Given the description of an element on the screen output the (x, y) to click on. 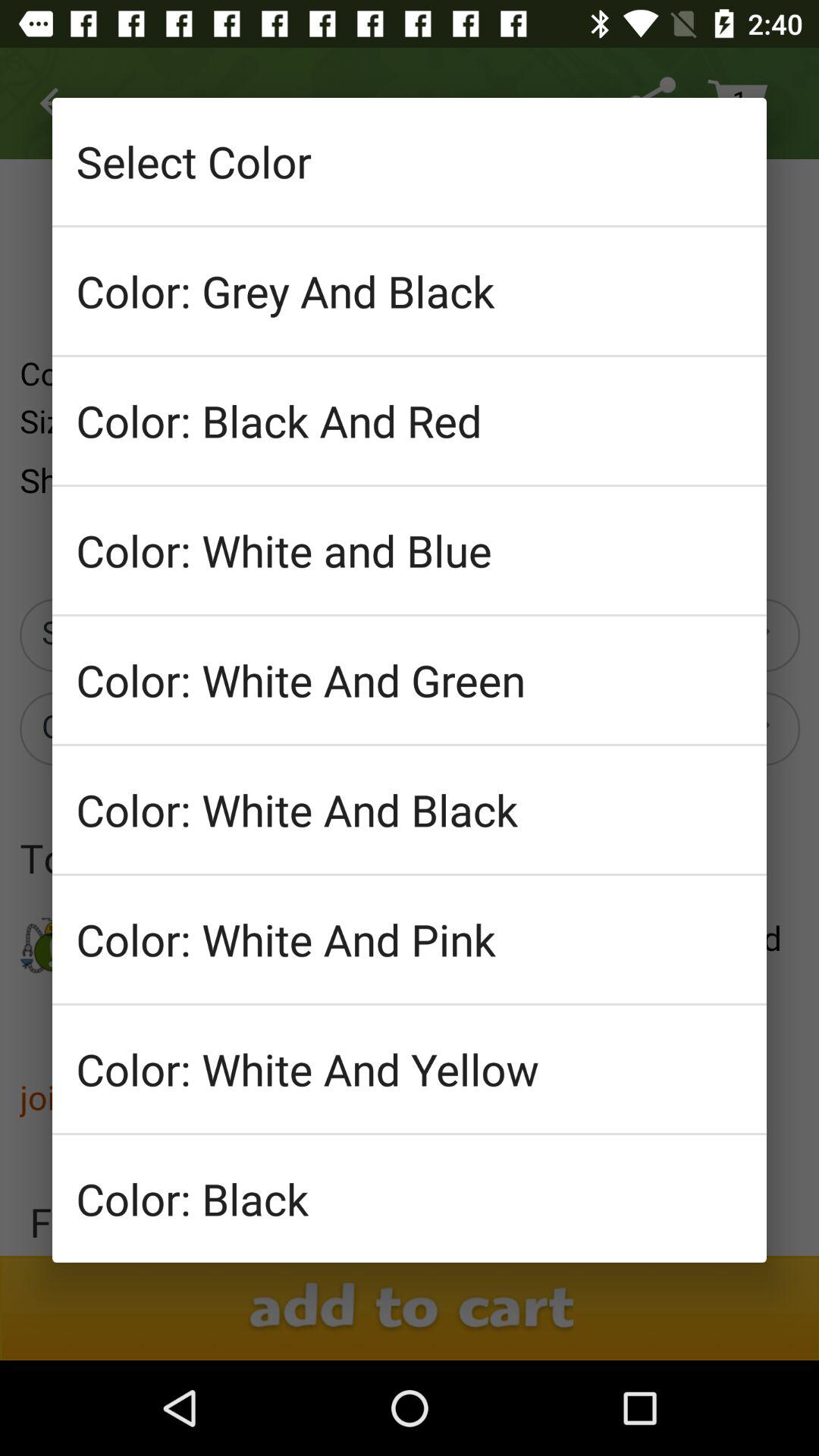
click the icon above color grey and (409, 161)
